Given the description of an element on the screen output the (x, y) to click on. 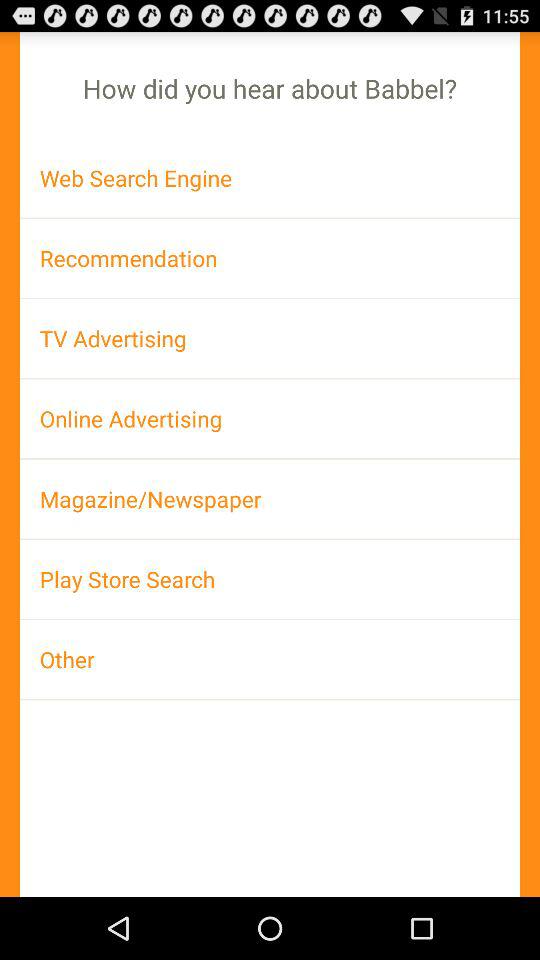
tap the other app (269, 659)
